Given the description of an element on the screen output the (x, y) to click on. 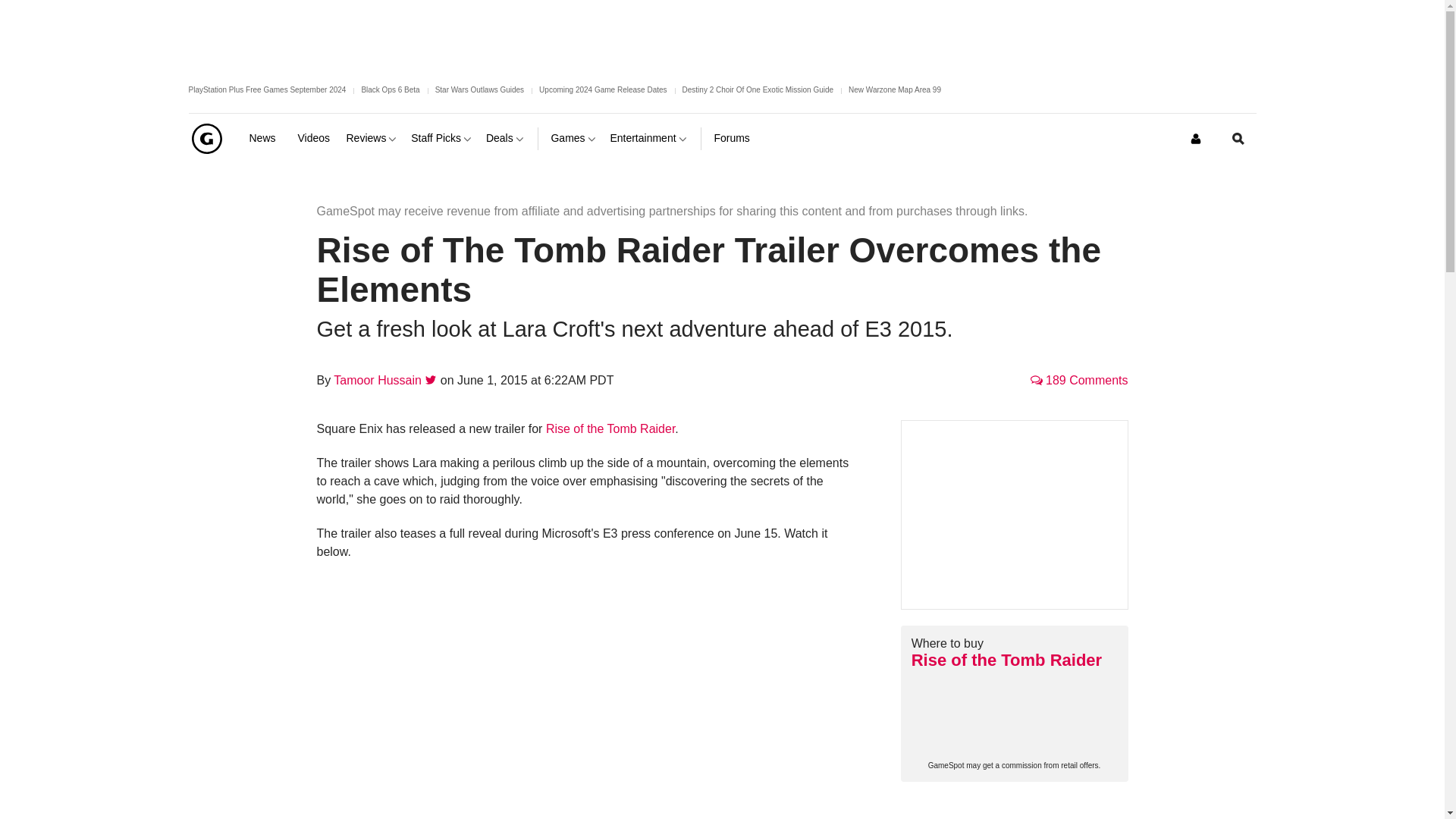
News (266, 138)
Deals (505, 138)
Upcoming 2024 Game Release Dates (602, 89)
Videos (315, 138)
Star Wars Outlaws Guides (479, 89)
Reviews (372, 138)
Black Ops 6 Beta (390, 89)
Destiny 2 Choir Of One Exotic Mission Guide (758, 89)
Games (573, 138)
New Warzone Map Area 99 (894, 89)
